Given the description of an element on the screen output the (x, y) to click on. 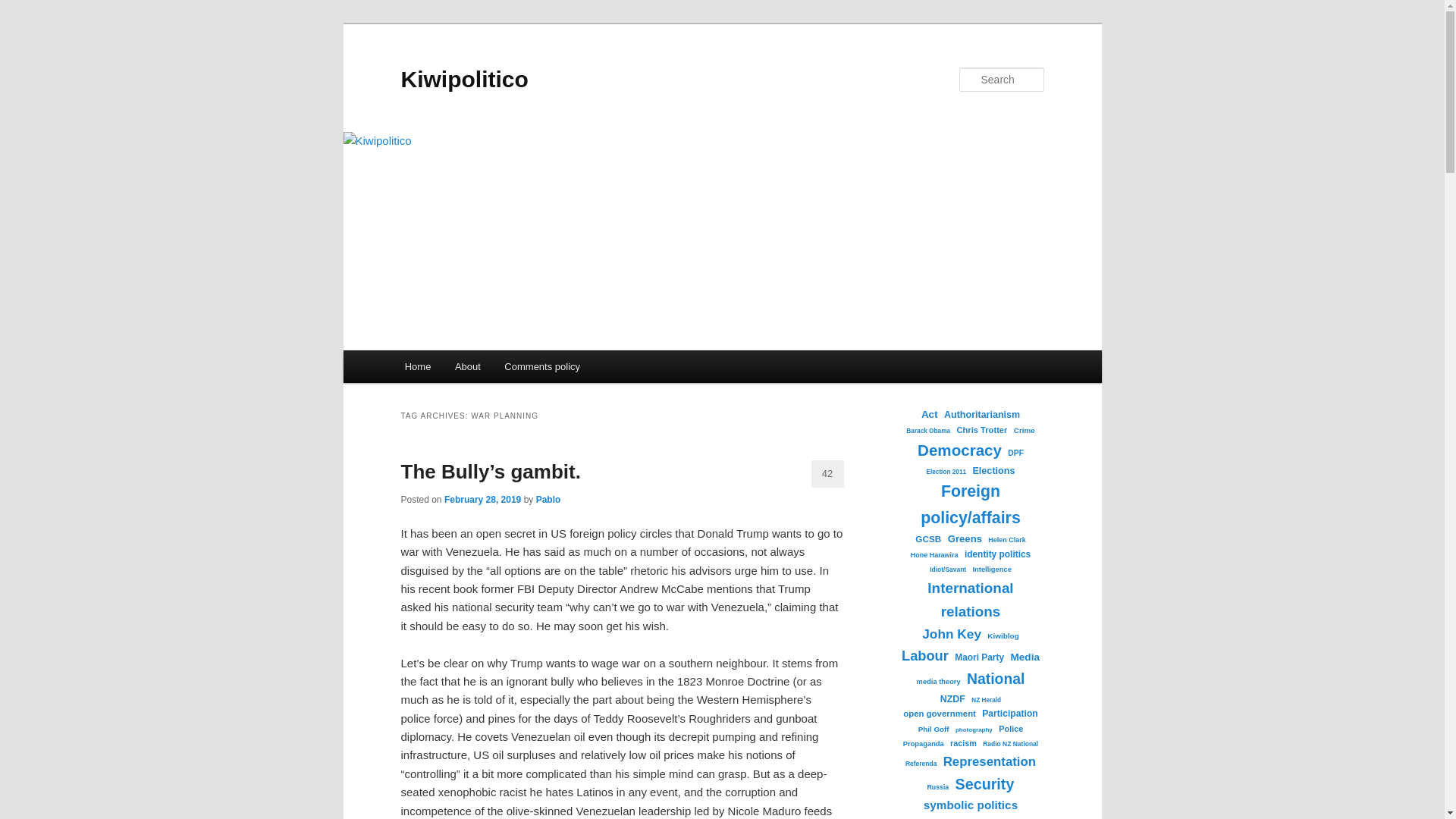
Crime (1024, 430)
Search (24, 8)
Elections (993, 471)
Election 2011 (946, 471)
About (467, 366)
Act (929, 414)
42 (827, 473)
Comments policy (542, 366)
Helen Clark (1006, 540)
